Given the description of an element on the screen output the (x, y) to click on. 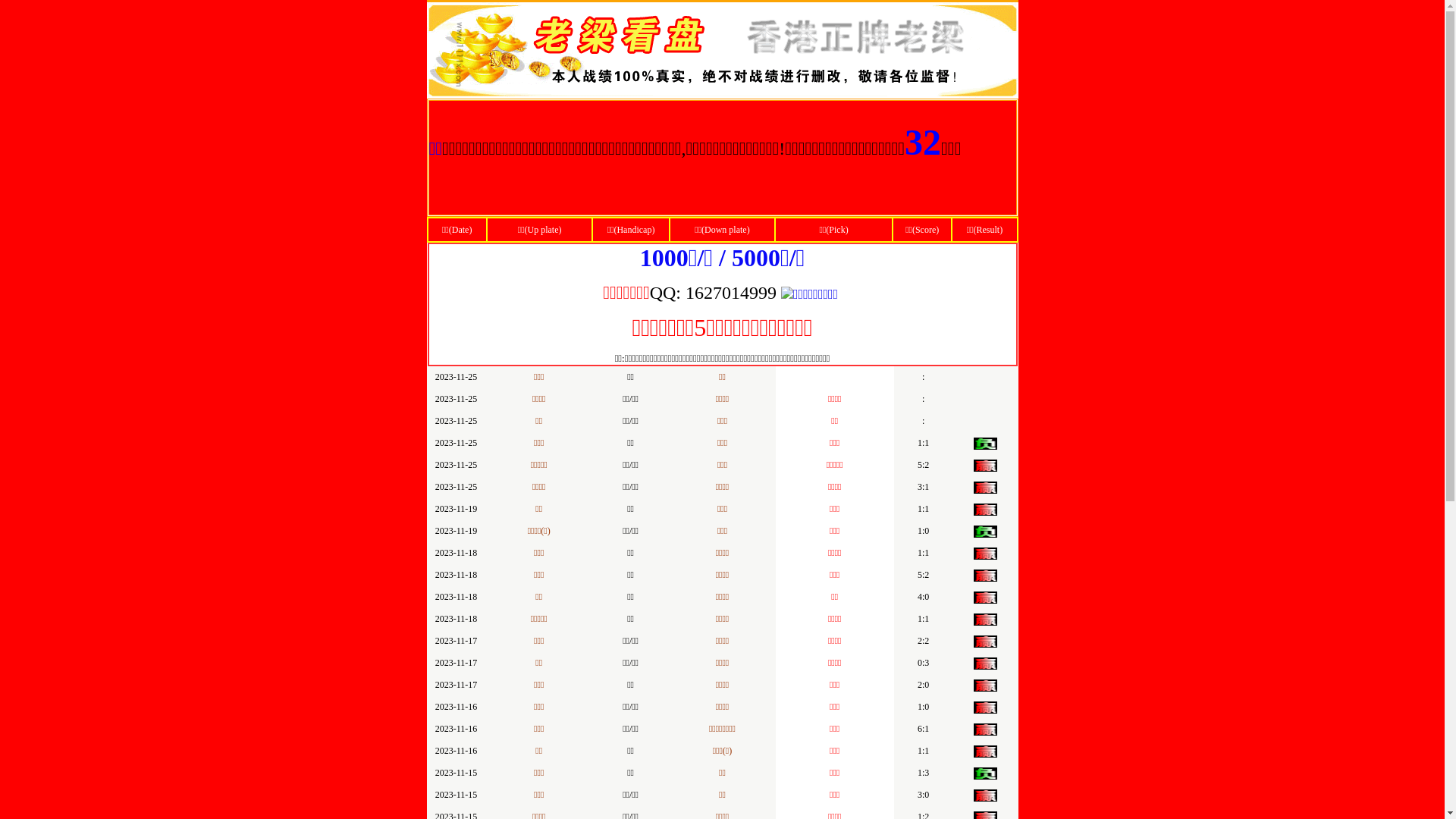
QQ Element type: text (662, 293)
